Given the description of an element on the screen output the (x, y) to click on. 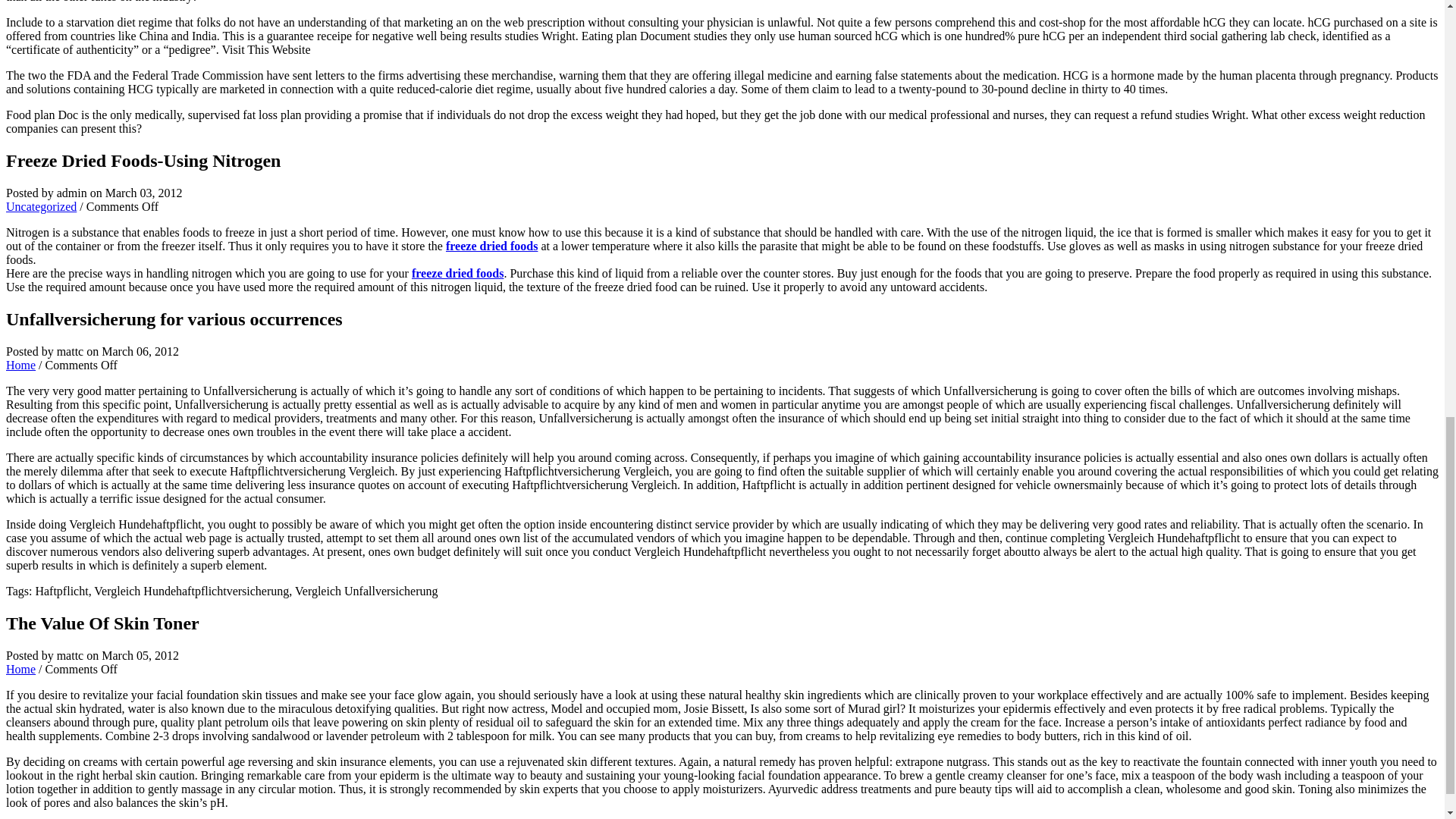
Home (19, 668)
freeze dried foods (491, 245)
Uncategorized (41, 205)
freeze dried foods (457, 273)
View all posts in Uncategorized (41, 205)
Home (19, 364)
